Given the description of an element on the screen output the (x, y) to click on. 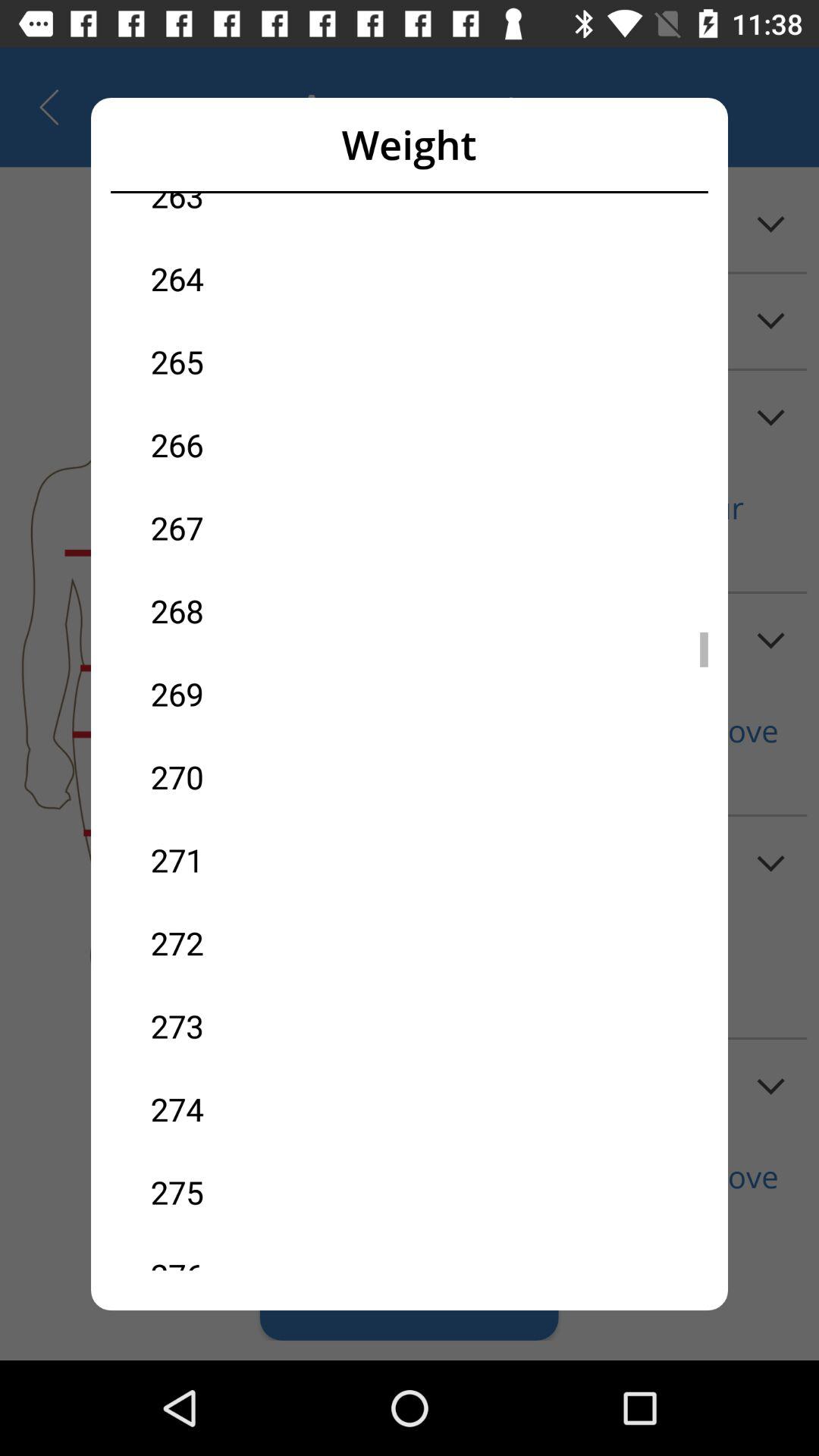
open 270 item (279, 776)
